Given the description of an element on the screen output the (x, y) to click on. 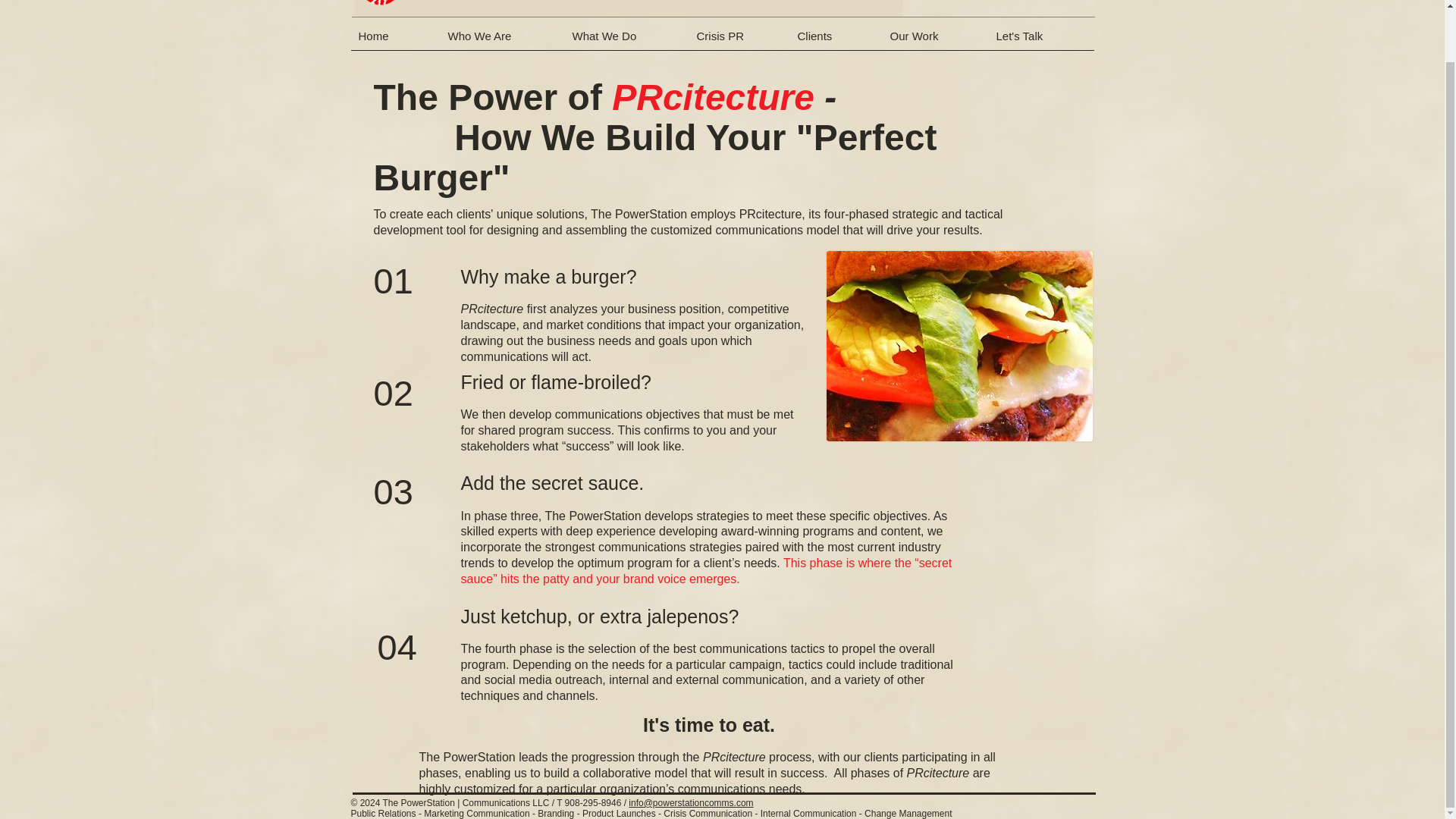
Our Work (935, 40)
Let's Talk (1041, 40)
Crisis PR (738, 40)
What We Do (626, 40)
Who We Are (501, 40)
Home (394, 40)
Clients (836, 40)
